Given the description of an element on the screen output the (x, y) to click on. 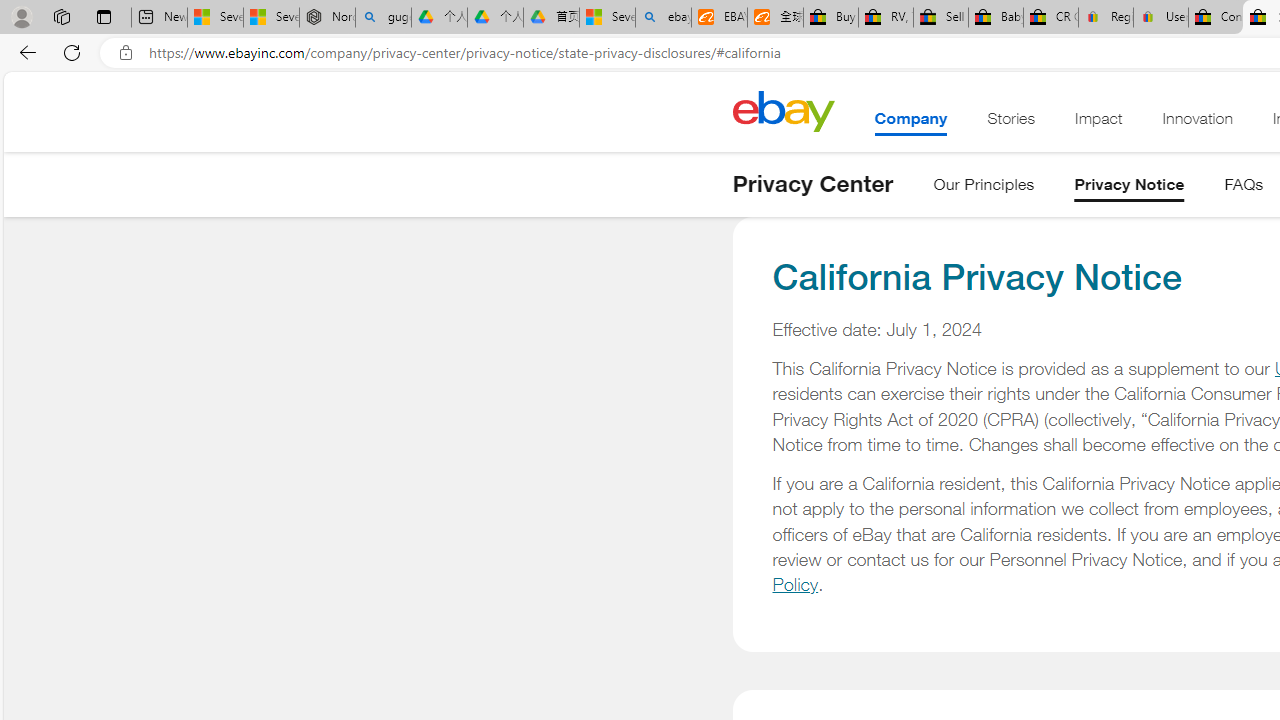
FAQs (1243, 188)
Consumer Health Data Privacy Policy - eBay Inc. (1215, 17)
Privacy Notice (1129, 188)
Privacy Center (812, 183)
Baby Keepsakes & Announcements for sale | eBay (995, 17)
Register: Create a personal eBay account (1105, 17)
